Given the description of an element on the screen output the (x, y) to click on. 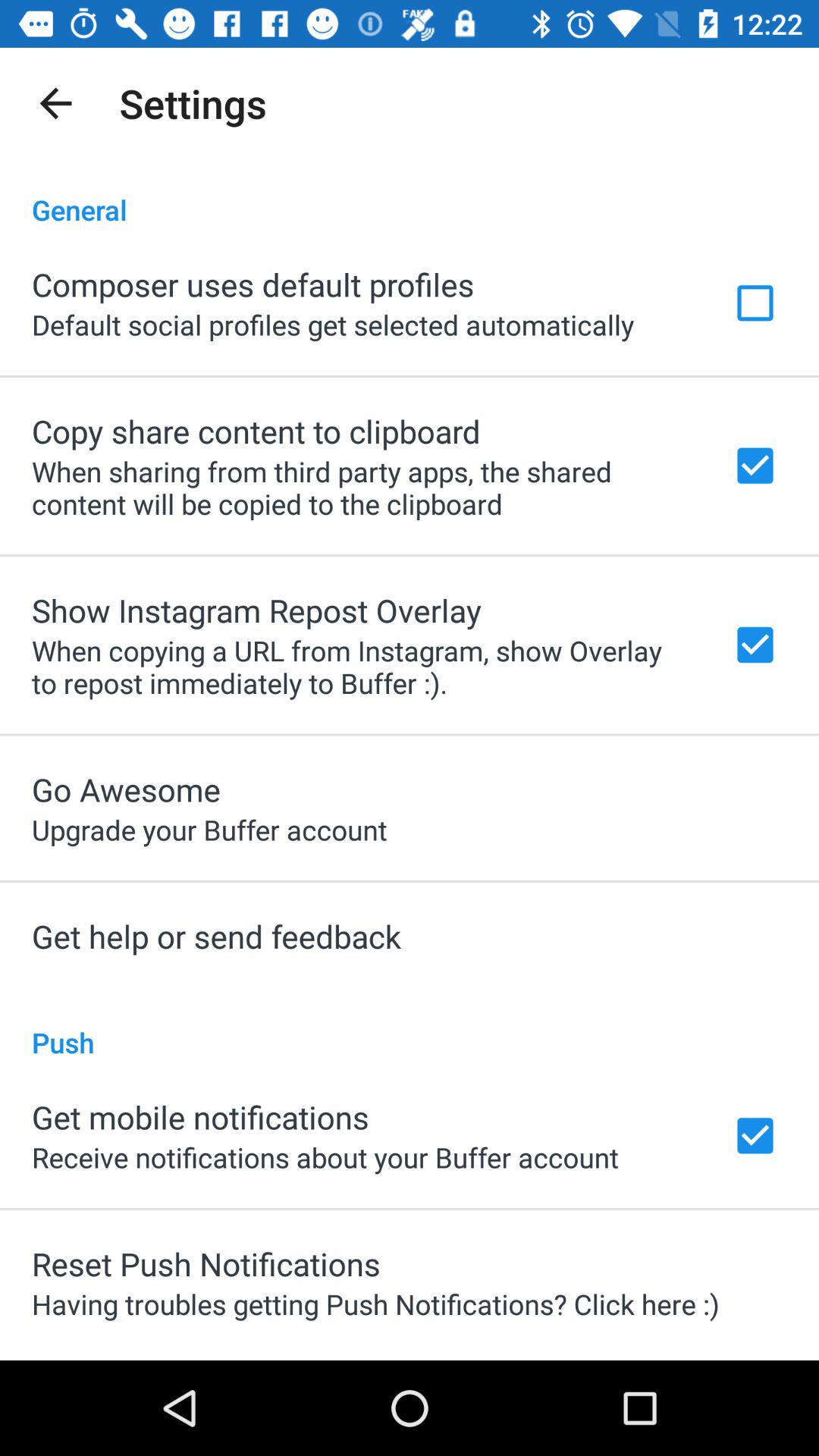
scroll until the copy share content app (255, 430)
